Given the description of an element on the screen output the (x, y) to click on. 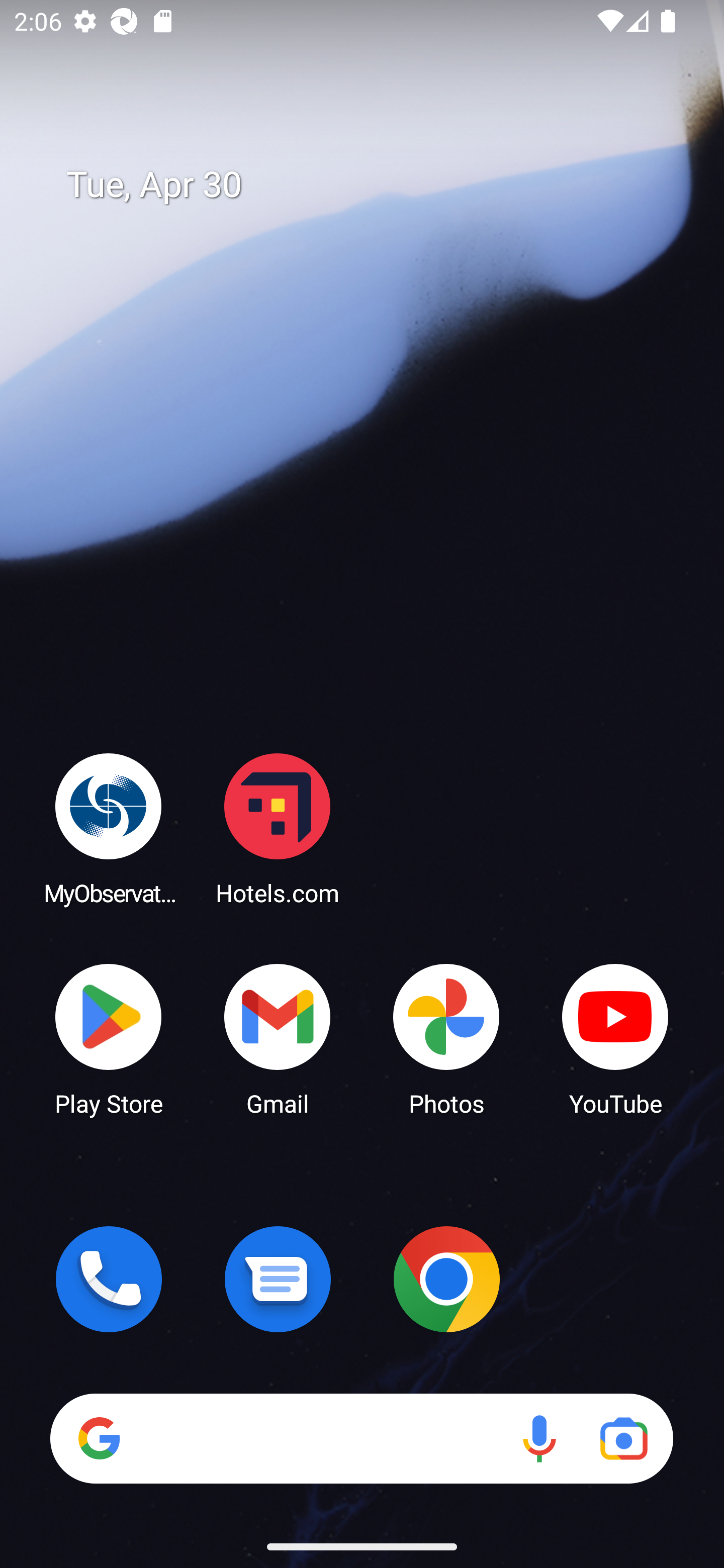
Tue, Apr 30 (375, 184)
MyObservatory (108, 828)
Hotels.com (277, 828)
Play Store (108, 1038)
Gmail (277, 1038)
Photos (445, 1038)
YouTube (615, 1038)
Phone (108, 1279)
Messages (277, 1279)
Chrome (446, 1279)
Voice search (539, 1438)
Google Lens (623, 1438)
